Given the description of an element on the screen output the (x, y) to click on. 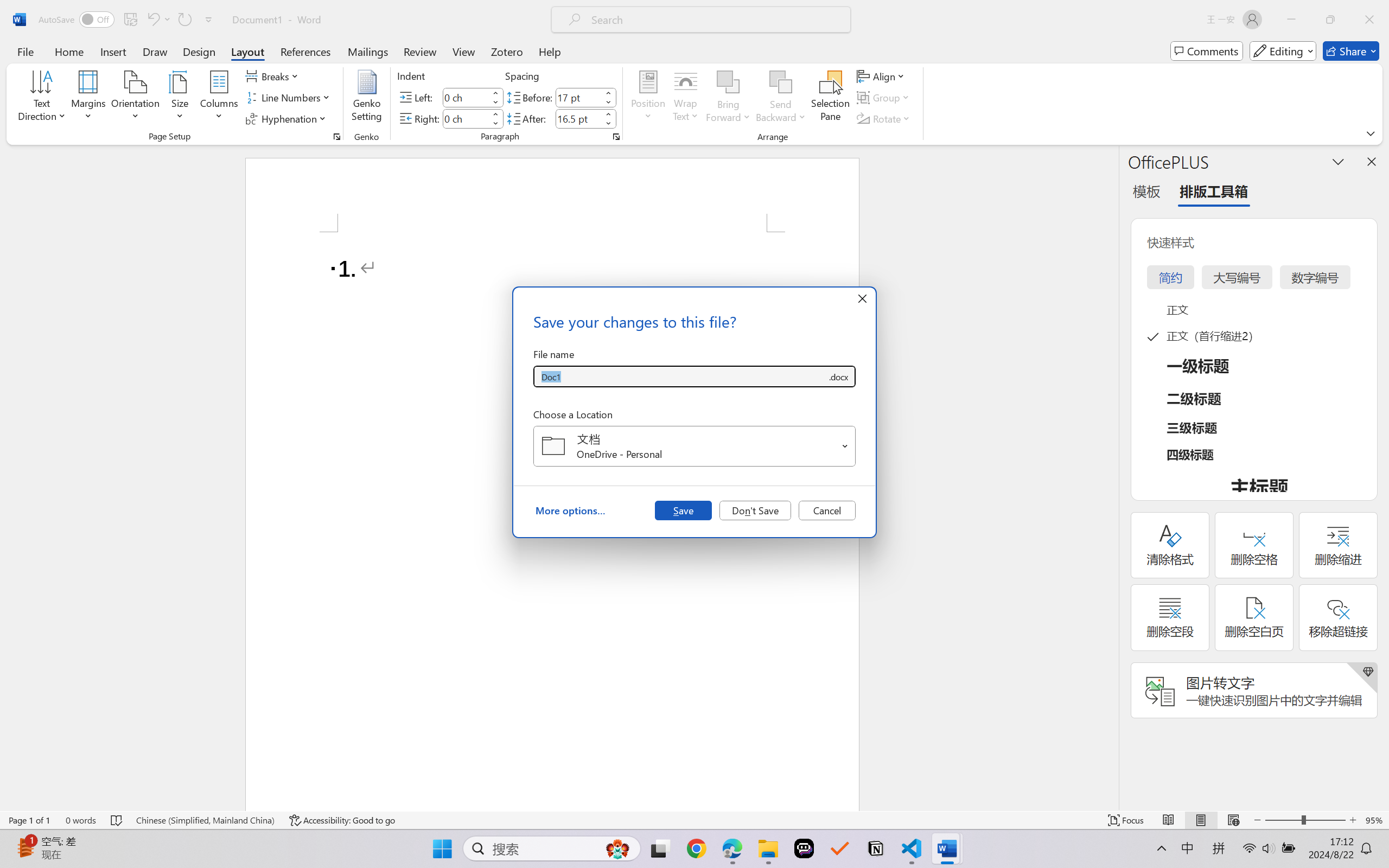
Indent Left (465, 96)
Less (608, 123)
Columns (219, 97)
Send Backward (781, 81)
Rotate (884, 118)
